Given the description of an element on the screen output the (x, y) to click on. 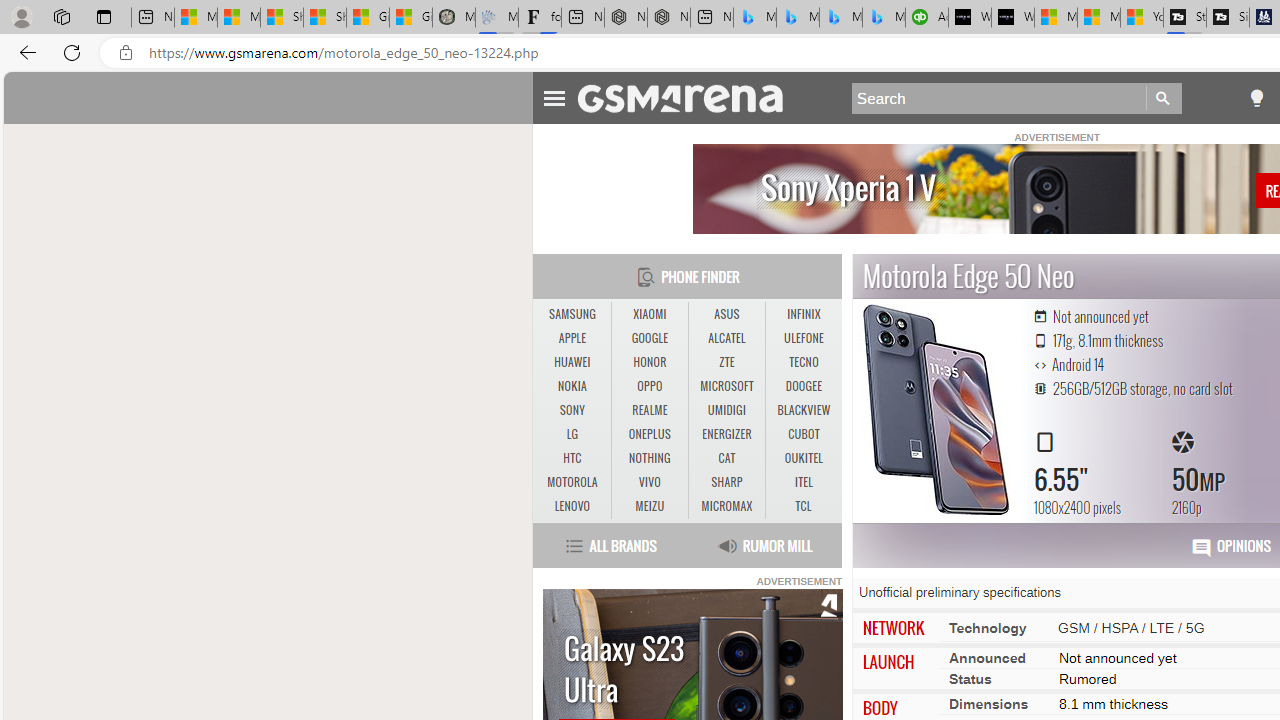
HUAWEI (571, 362)
HUAWEI (571, 362)
MICROSOFT (726, 386)
HONOR (649, 362)
Streaming Coverage | T3 (1184, 17)
MICROMAX (726, 506)
ALCATEL (726, 339)
Microsoft Start Sports (1055, 17)
MICROMAX (726, 506)
CAT (726, 457)
NOKIA (571, 385)
TCL (803, 506)
SHARP (726, 483)
